Given the description of an element on the screen output the (x, y) to click on. 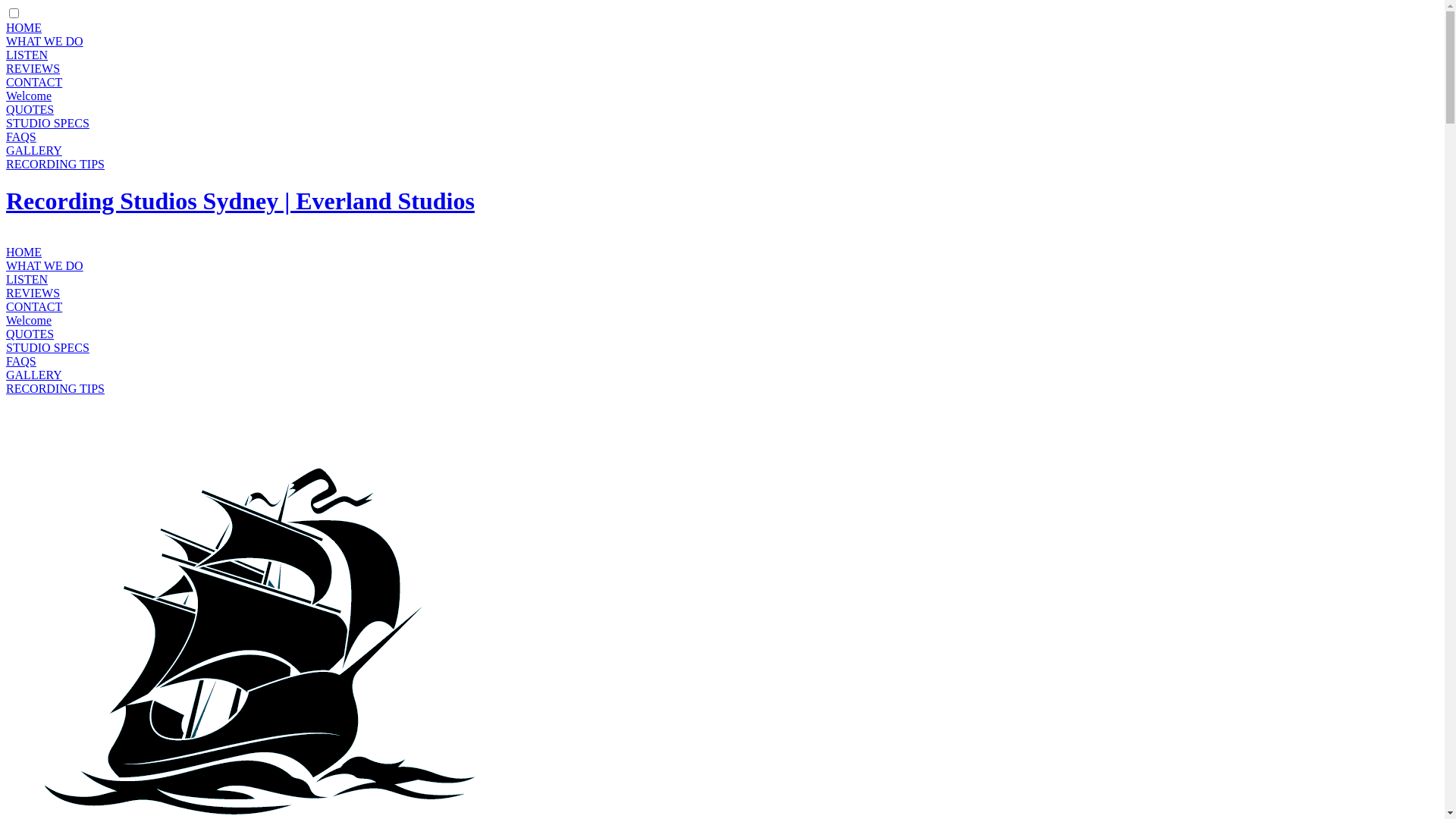
FAQS Element type: text (21, 136)
LISTEN Element type: text (26, 54)
HOME Element type: text (23, 27)
STUDIO SPECS Element type: text (47, 122)
GALLERY Element type: text (34, 374)
GALLERY Element type: text (34, 150)
FAQS Element type: text (21, 360)
CONTACT Element type: text (34, 81)
Welcome Element type: text (28, 319)
CONTACT Element type: text (34, 306)
REVIEWS Element type: text (32, 68)
RECORDING TIPS Element type: text (55, 388)
WHAT WE DO Element type: text (44, 265)
QUOTES Element type: text (29, 109)
LISTEN Element type: text (26, 279)
STUDIO SPECS Element type: text (47, 347)
QUOTES Element type: text (29, 333)
RECORDING TIPS Element type: text (55, 163)
Welcome Element type: text (28, 95)
REVIEWS Element type: text (32, 292)
HOME Element type: text (23, 251)
WHAT WE DO Element type: text (44, 40)
Recording Studios Sydney | Everland Studios Element type: text (240, 200)
